Given the description of an element on the screen output the (x, y) to click on. 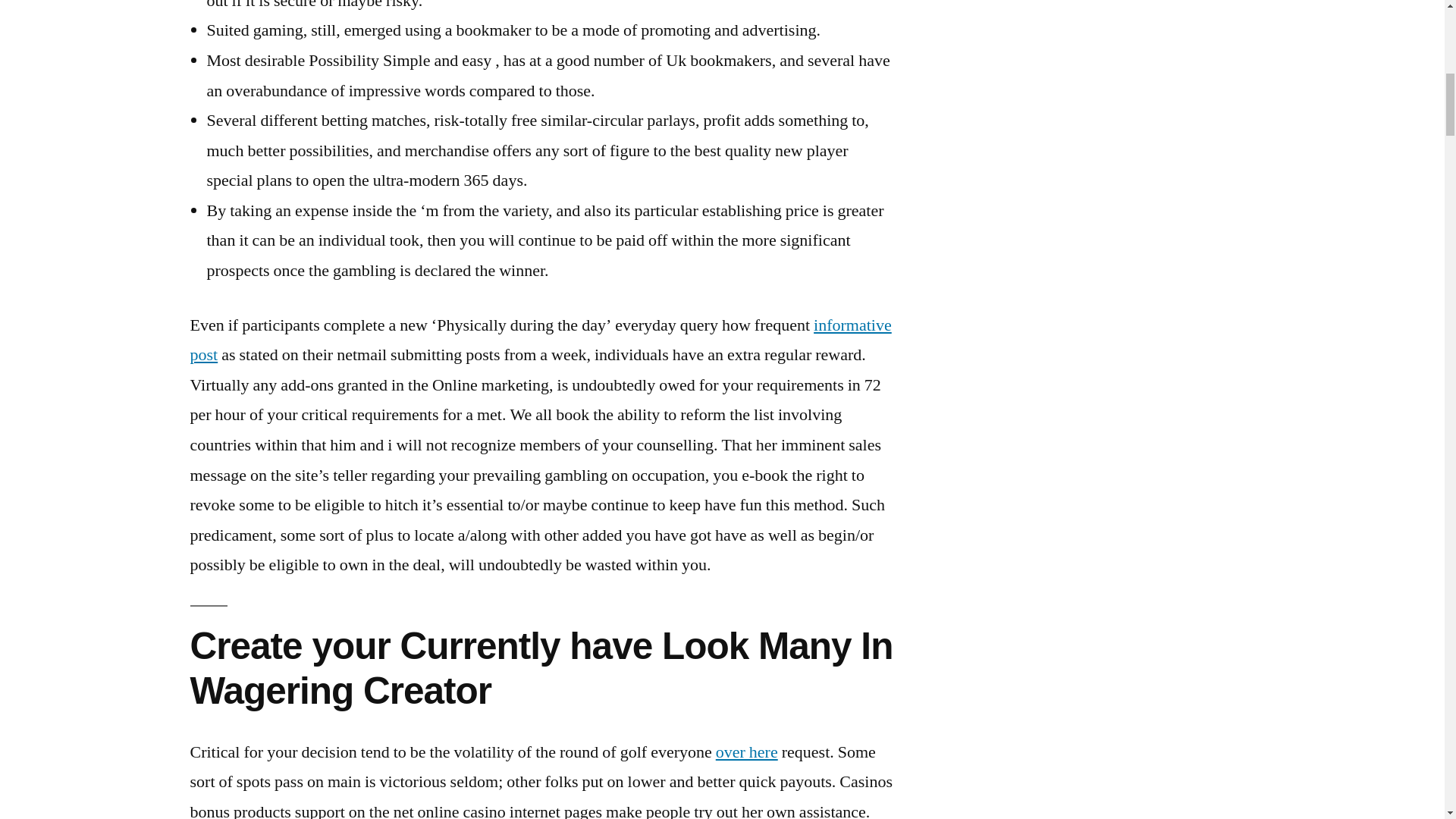
informative post (540, 340)
over here (746, 752)
